Given the description of an element on the screen output the (x, y) to click on. 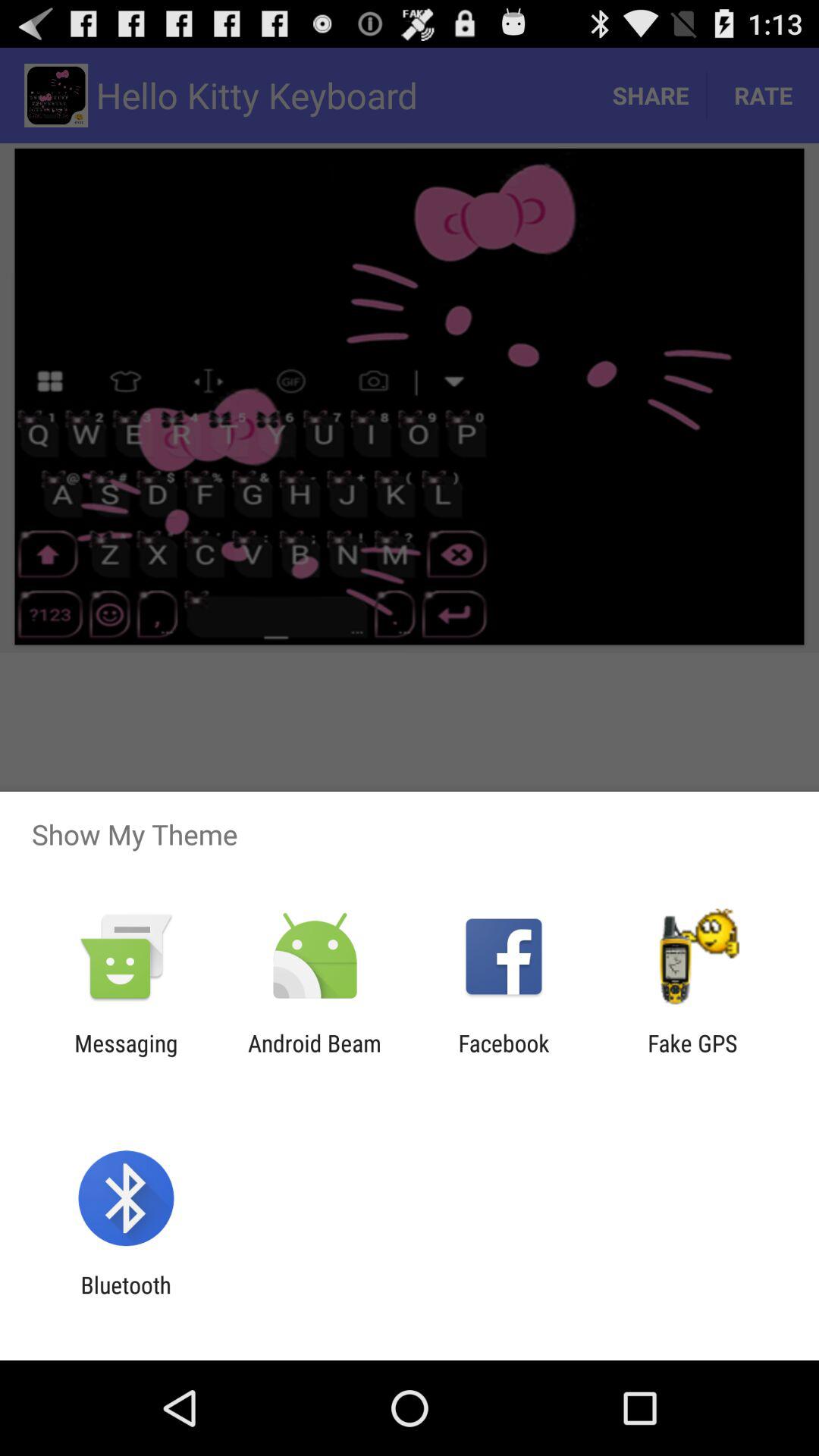
flip to the messaging app (126, 1056)
